Given the description of an element on the screen output the (x, y) to click on. 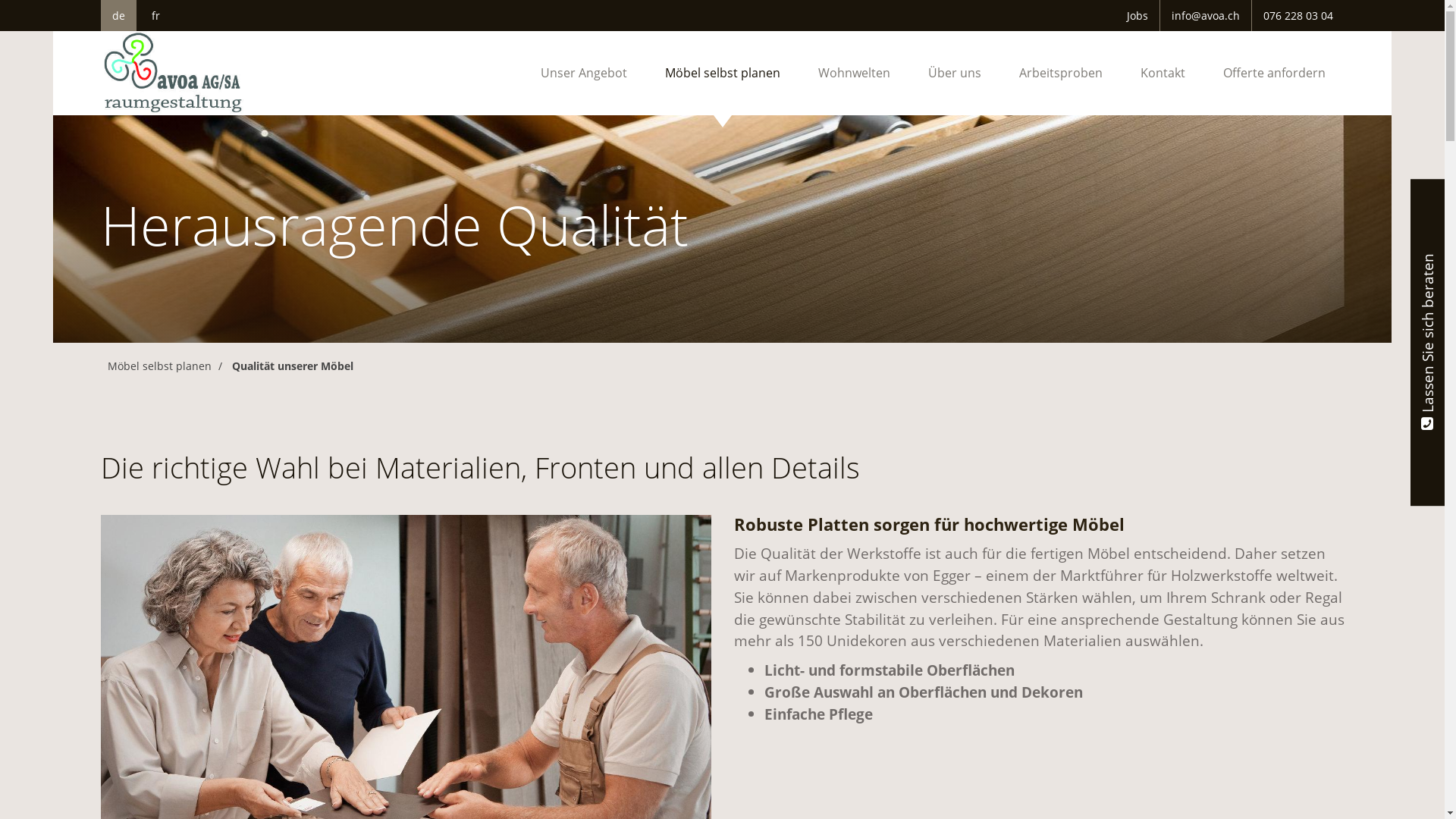
Jobs Element type: text (1136, 15)
Wohnwelten Element type: text (854, 72)
076 228 03 04 Element type: text (1297, 15)
Offerte anfordern Element type: text (1274, 72)
Arbeitsproben Element type: text (1059, 72)
info@avoa.ch Element type: text (1206, 15)
de Element type: text (118, 15)
Kontakt Element type: text (1161, 72)
fr Element type: text (155, 15)
Unser Angebot Element type: text (583, 72)
